Given the description of an element on the screen output the (x, y) to click on. 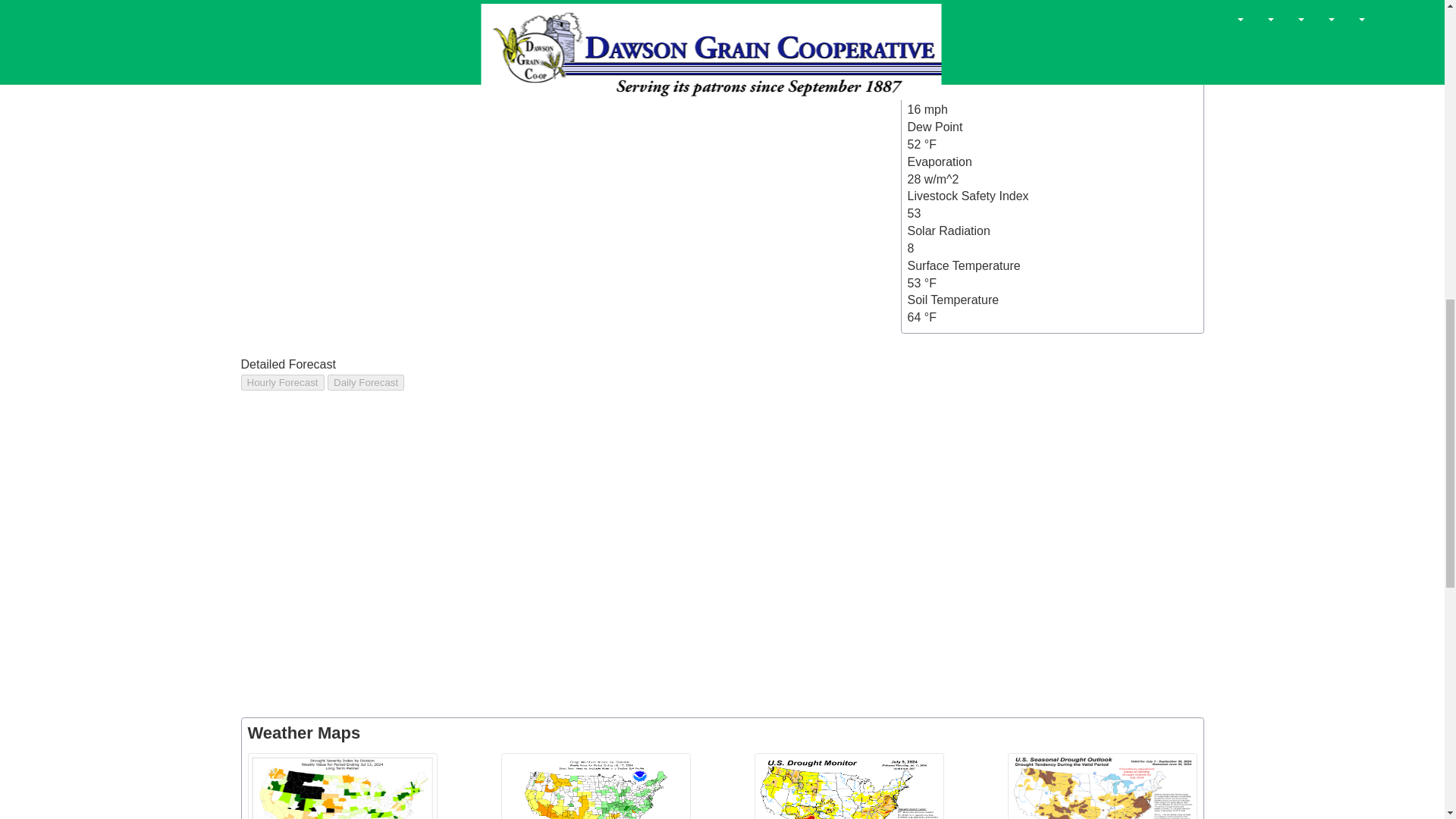
Drought Monitor (848, 785)
Drought Outlook (1101, 785)
Palmer Drought Index (341, 785)
Crop Moisture (595, 785)
